Given the description of an element on the screen output the (x, y) to click on. 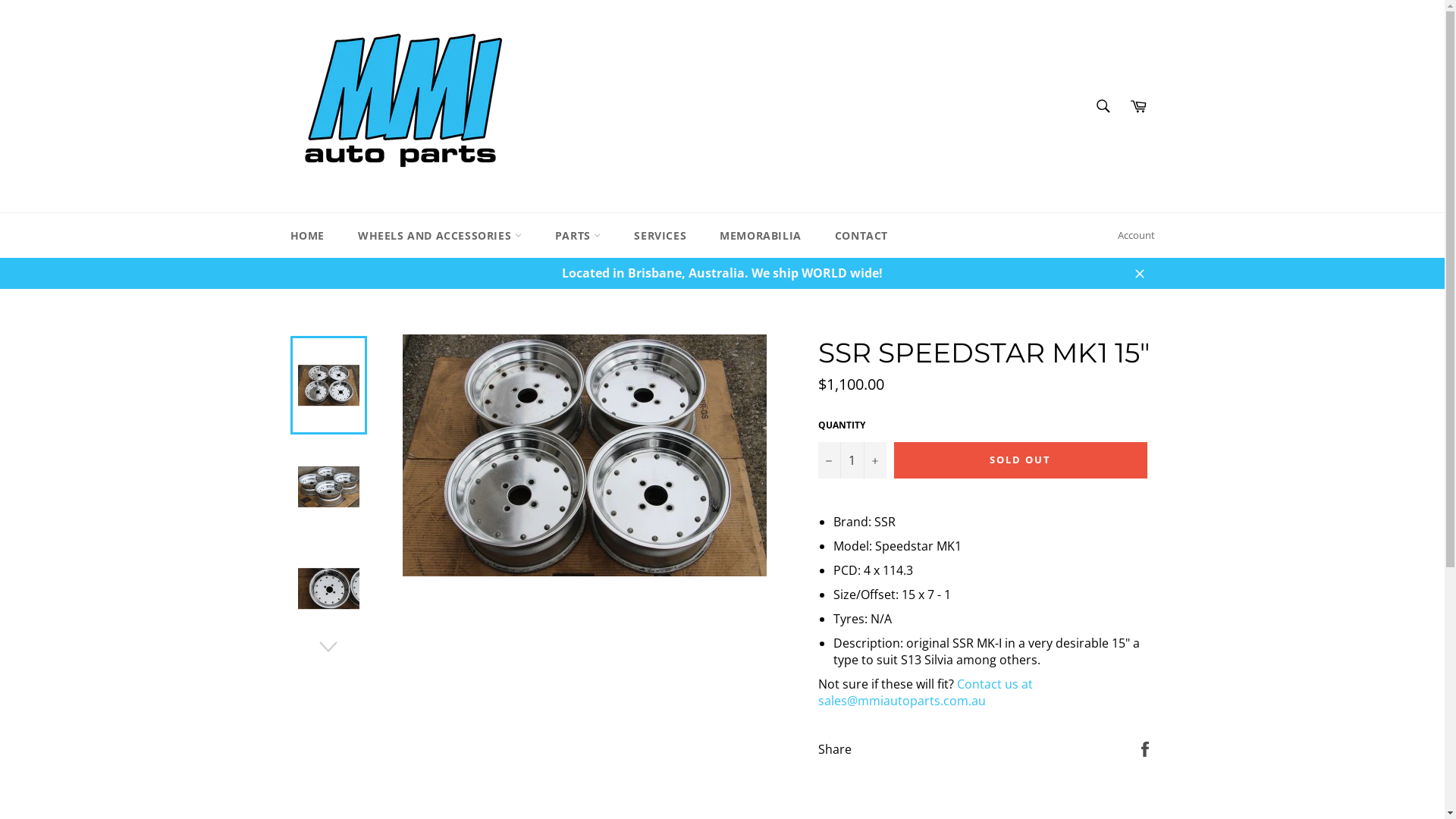
HOME Element type: text (306, 235)
Share on Facebook Element type: text (1144, 748)
MEMORABILIA Element type: text (760, 235)
SERVICES Element type: text (659, 235)
CONTACT Element type: text (861, 235)
WHEELS AND ACCESSORIES Element type: text (439, 235)
+ Element type: text (873, 460)
Search Element type: text (1103, 106)
Account Element type: text (1136, 235)
Close Element type: text (1138, 272)
Located in Brisbane, Australia. We ship WORLD wide! Element type: text (721, 272)
Cart Element type: text (1138, 106)
Contact us at sales@mmiautoparts.com.au Element type: text (924, 692)
SOLD OUT Element type: text (1019, 460)
PARTS Element type: text (577, 235)
